Given the description of an element on the screen output the (x, y) to click on. 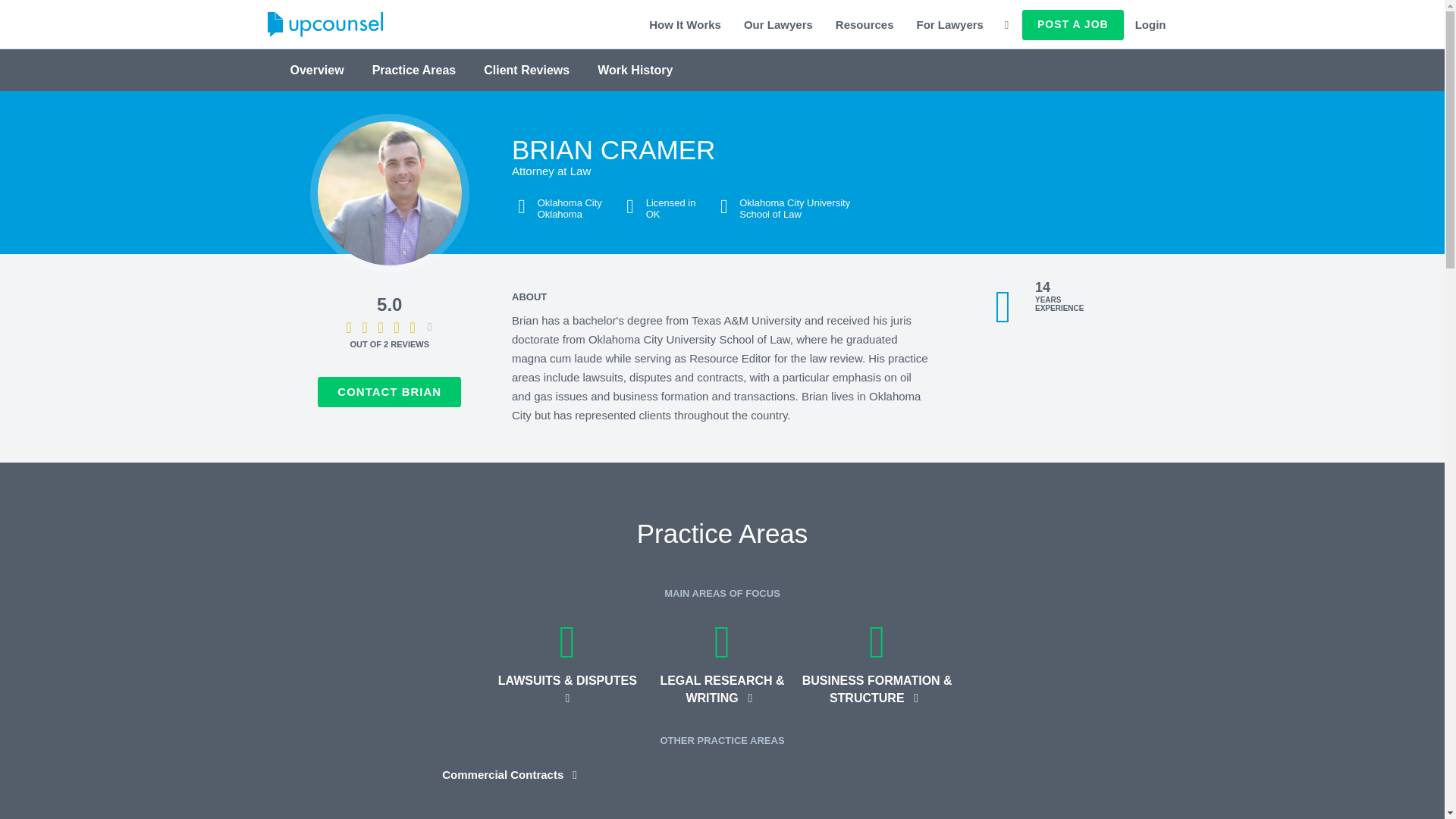
Our Lawyers (778, 24)
Practice Location (521, 207)
Bar Admissions (630, 207)
Resources (864, 24)
Client Reviews (526, 70)
Login (1150, 24)
Practice Areas (414, 70)
Work History (634, 70)
For Lawyers (949, 24)
How It Works (684, 24)
